Given the description of an element on the screen output the (x, y) to click on. 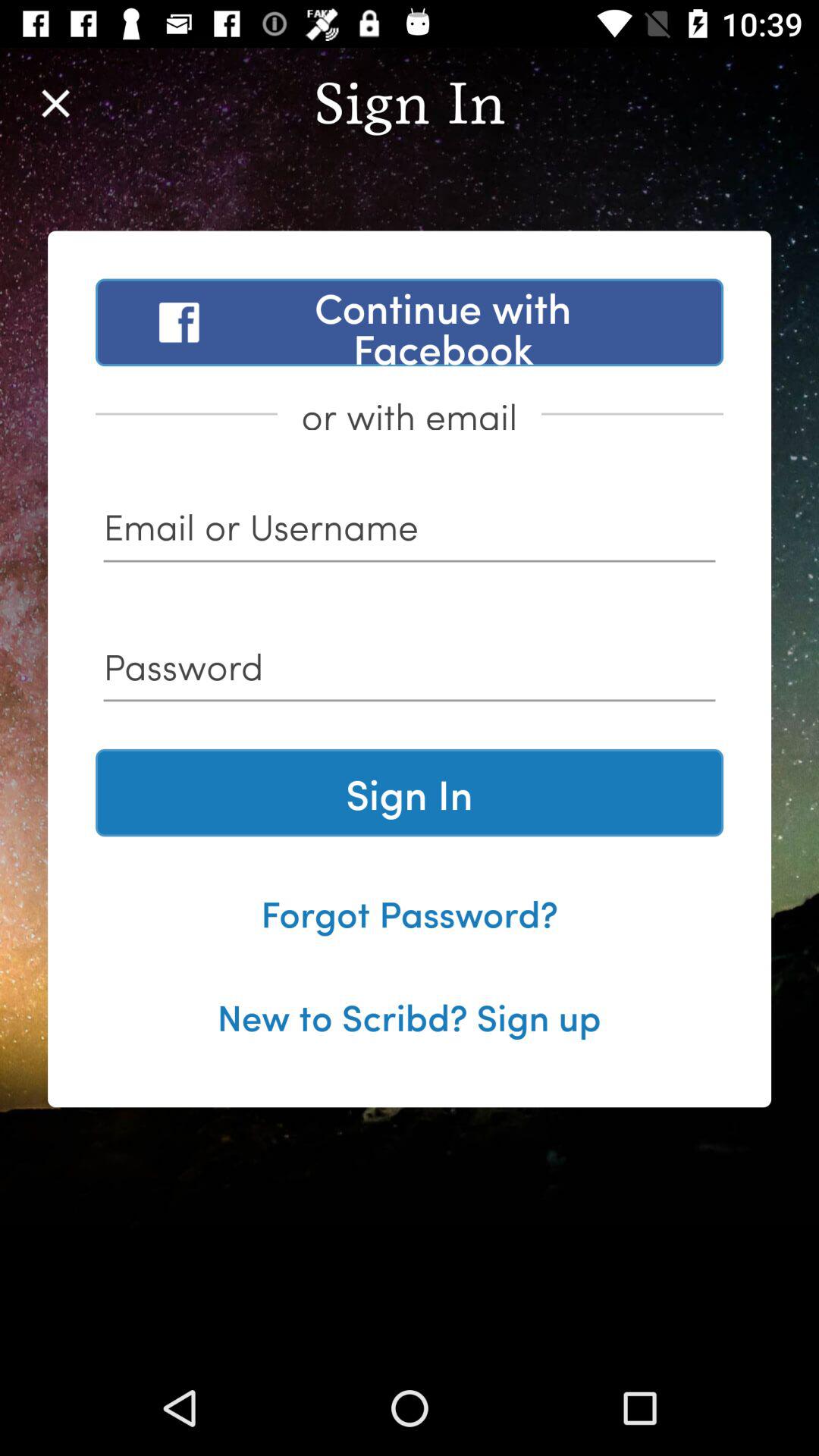
email or username field (409, 531)
